Given the description of an element on the screen output the (x, y) to click on. 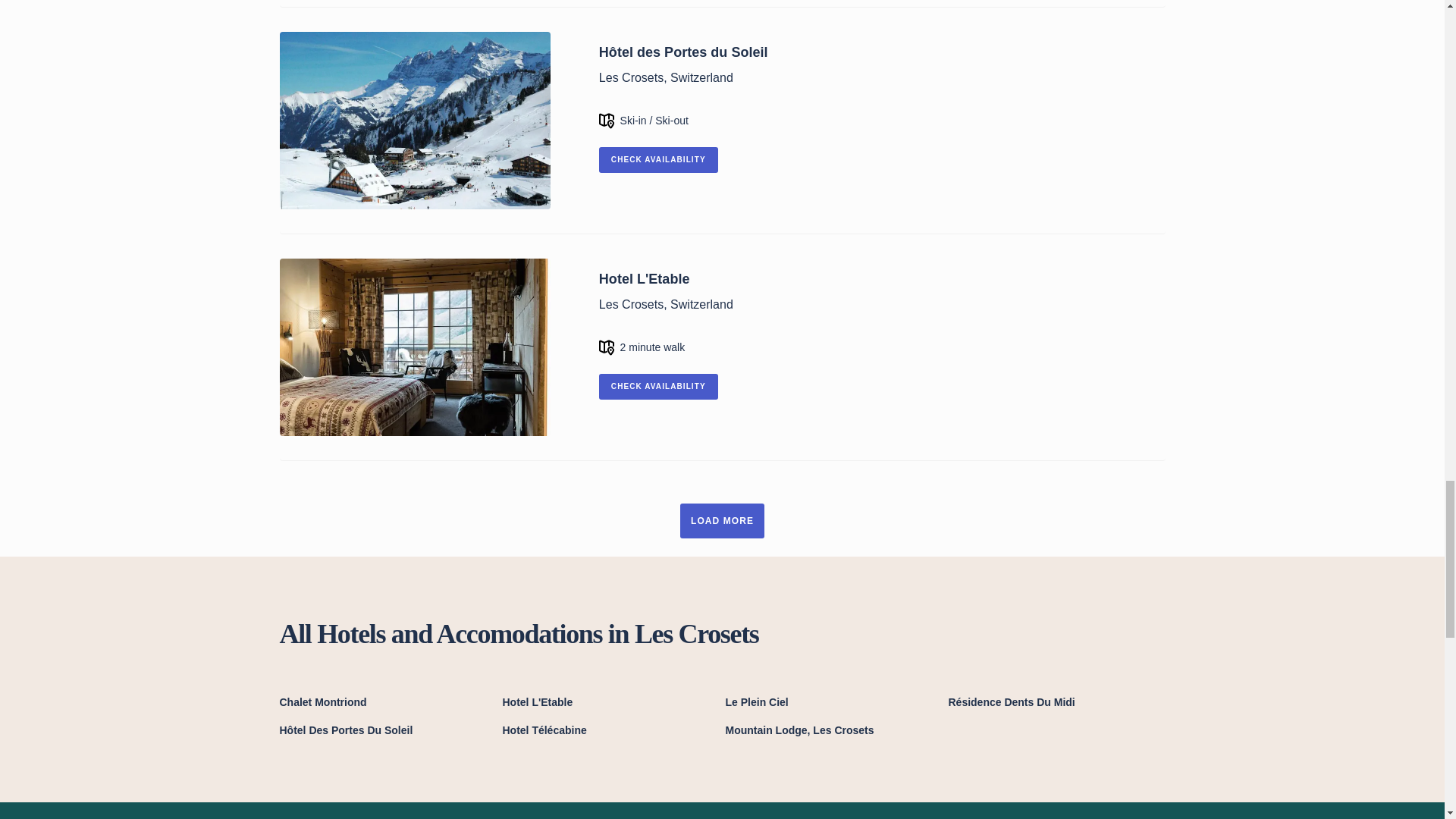
Le Plein Ciel (833, 702)
CHECK AVAILABILITY (657, 386)
CHECK AVAILABILITY (657, 159)
Chalet Montriond (387, 702)
Mountain Lodge, Les Crosets (833, 730)
LOAD MORE (721, 520)
Hotel L'Etable (610, 702)
